Given the description of an element on the screen output the (x, y) to click on. 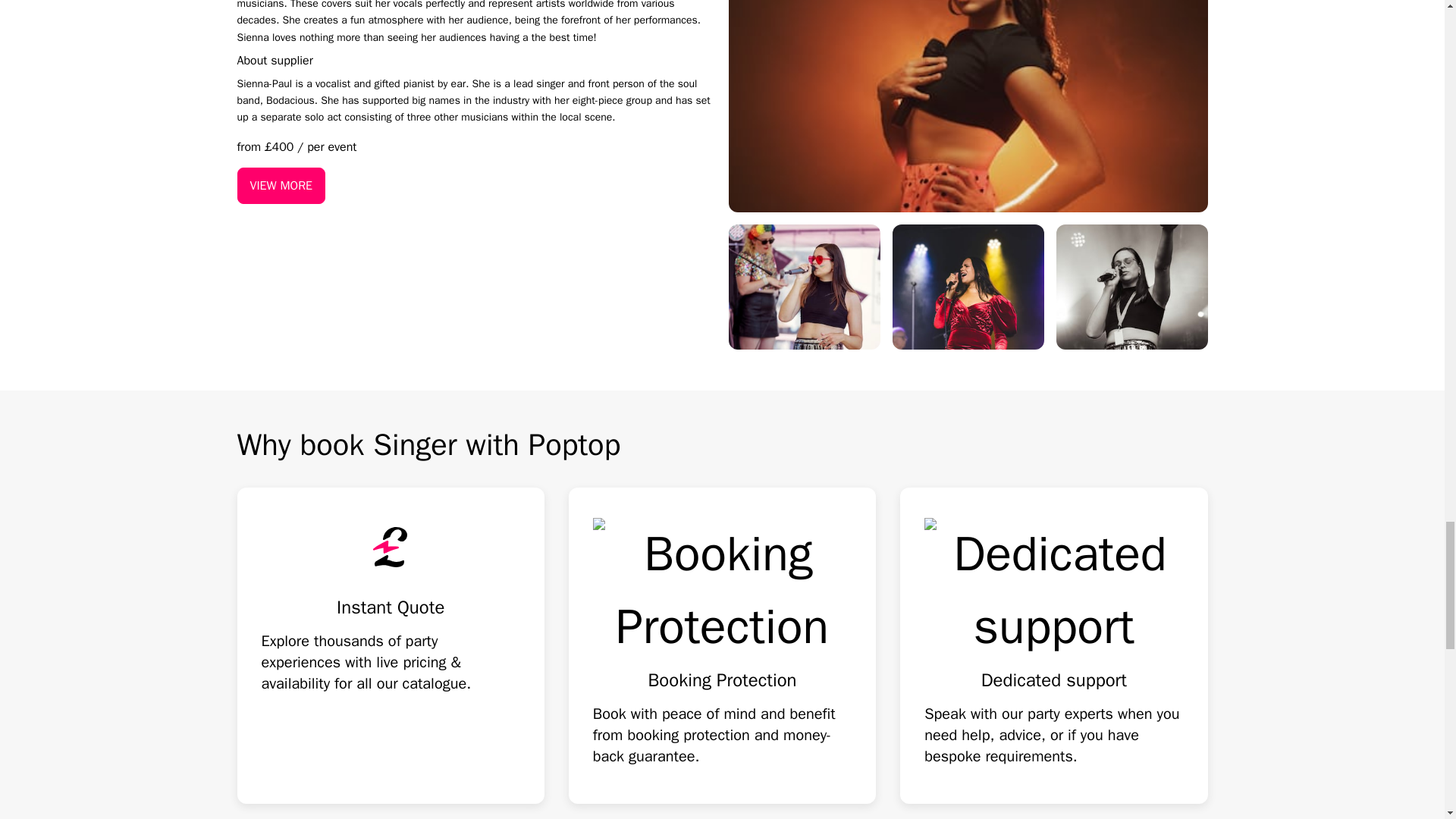
VIEW MORE (279, 185)
